Given the description of an element on the screen output the (x, y) to click on. 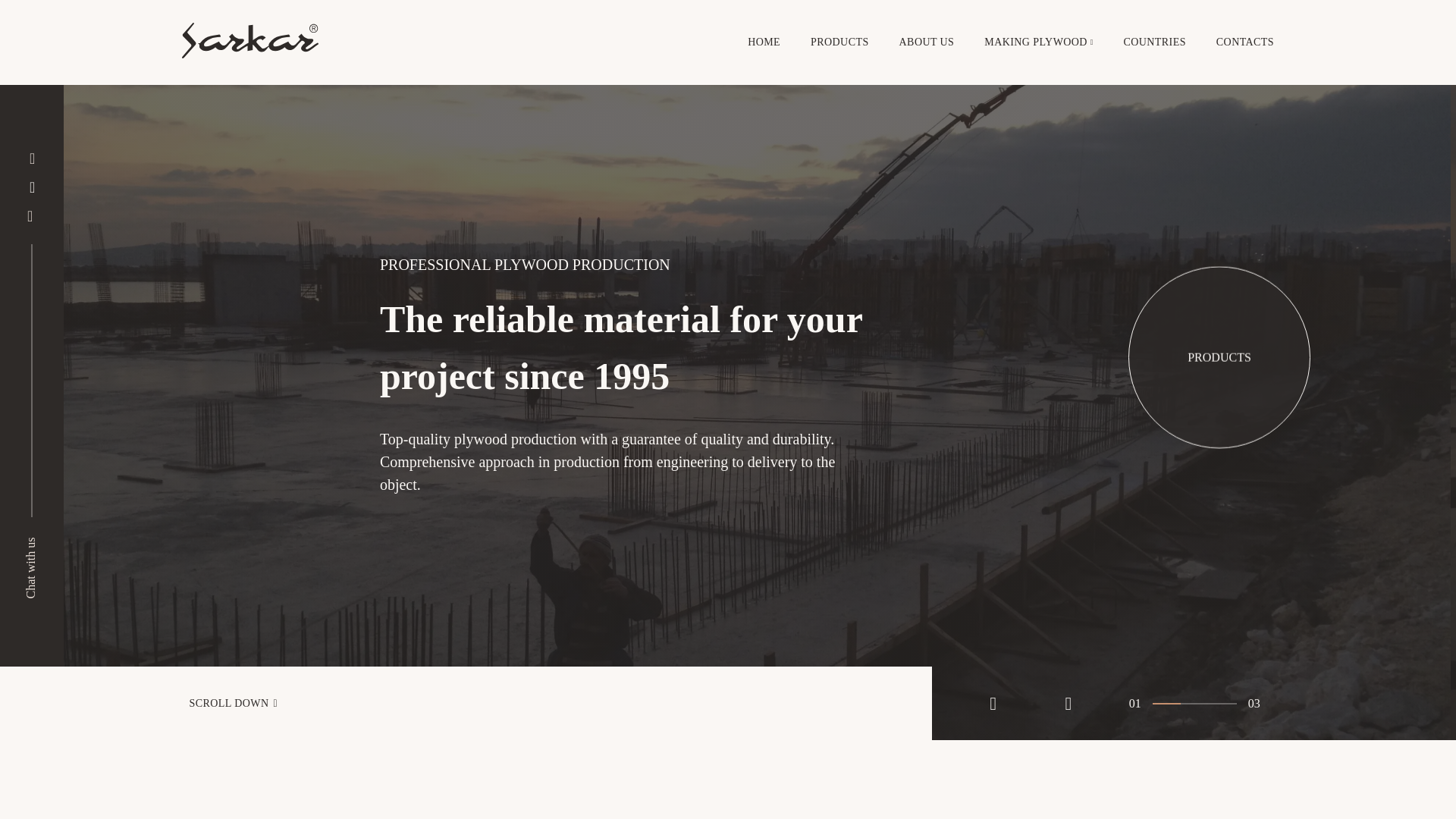
PRODUCTS (839, 41)
MAKING PLYWOOD (1035, 41)
SCROLL DOWN (465, 703)
CONTACTS (1244, 41)
PRODUCTS (1219, 361)
COUNTRIES (1155, 41)
HOME (764, 41)
ABOUT US (927, 41)
